Given the description of an element on the screen output the (x, y) to click on. 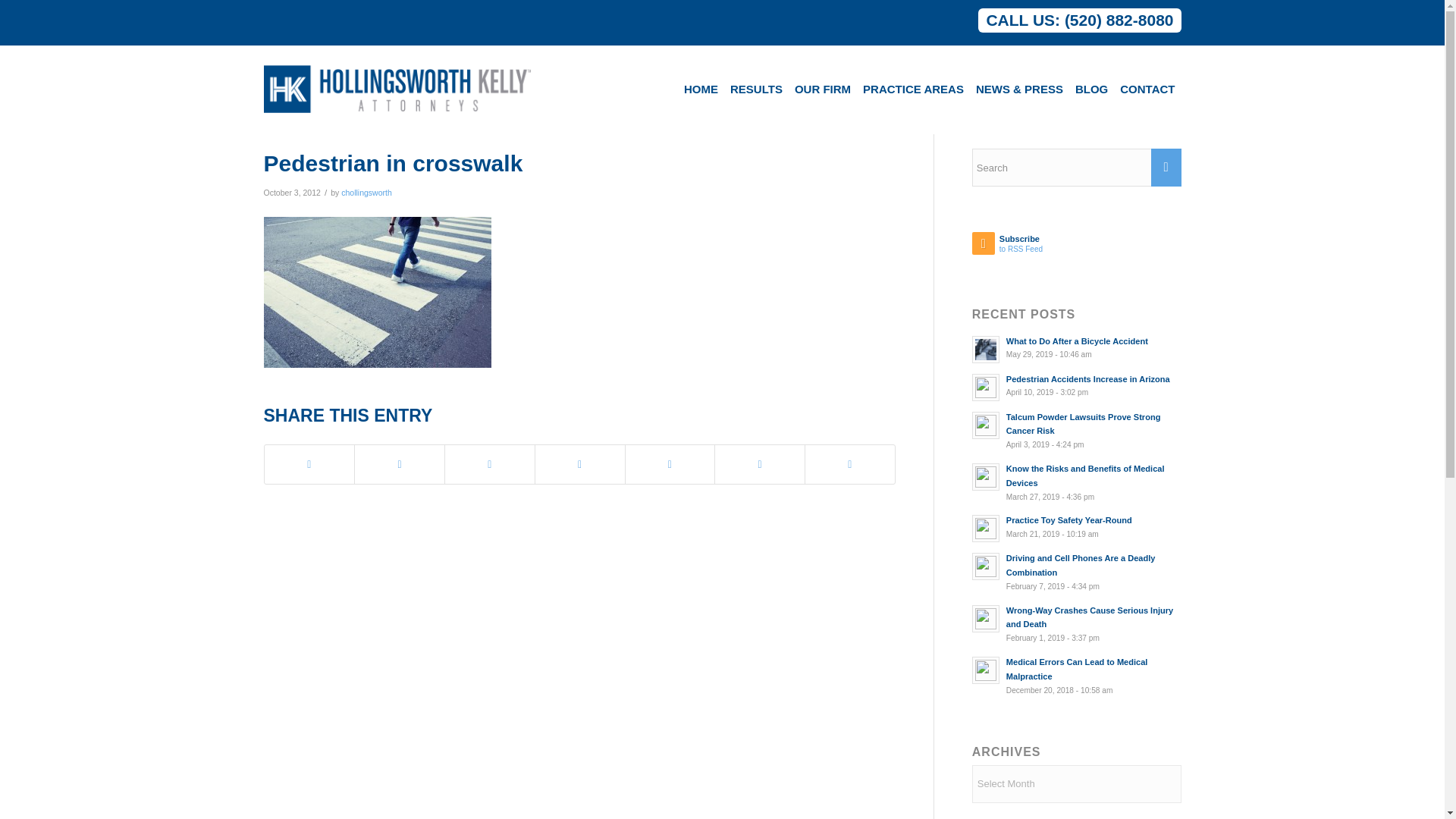
What to Do After a Bicycle Accident (1076, 347)
Know the Risks and Benefits of Medical Devices (1076, 482)
hollingsworth-kelly-attorneys-logo2015a (397, 89)
chollingsworth (365, 192)
PRACTICE AREAS (913, 89)
Driving and Cell Phones Are a Deadly Combination (1076, 571)
Talcum Powder Lawsuits Prove Strong Cancer Risk (1076, 430)
Pedestrian Accidents Increase in Arizona (1076, 386)
Posts by chollingsworth (365, 192)
